Given the description of an element on the screen output the (x, y) to click on. 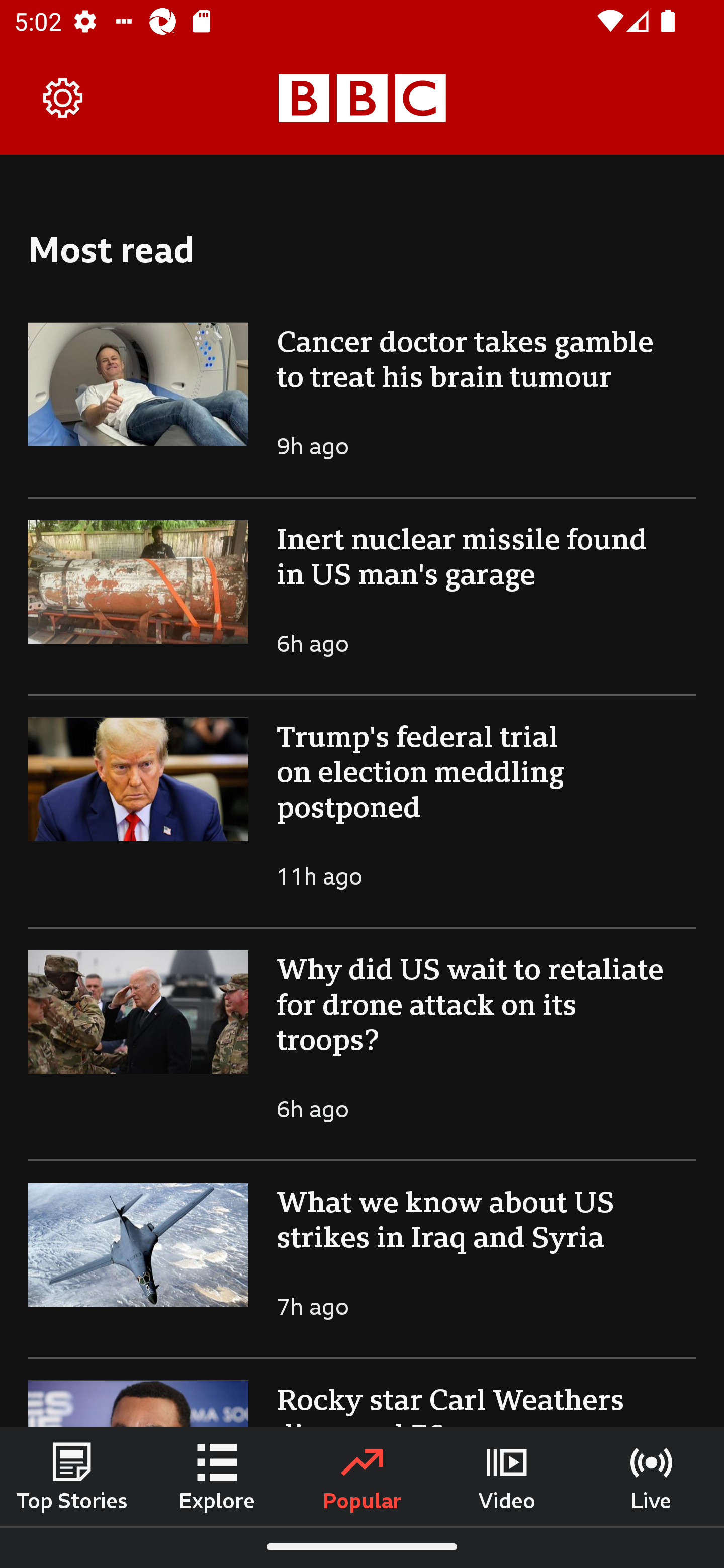
Settings (63, 97)
Top Stories (72, 1475)
Explore (216, 1475)
Video (506, 1475)
Live (651, 1475)
